Given the description of an element on the screen output the (x, y) to click on. 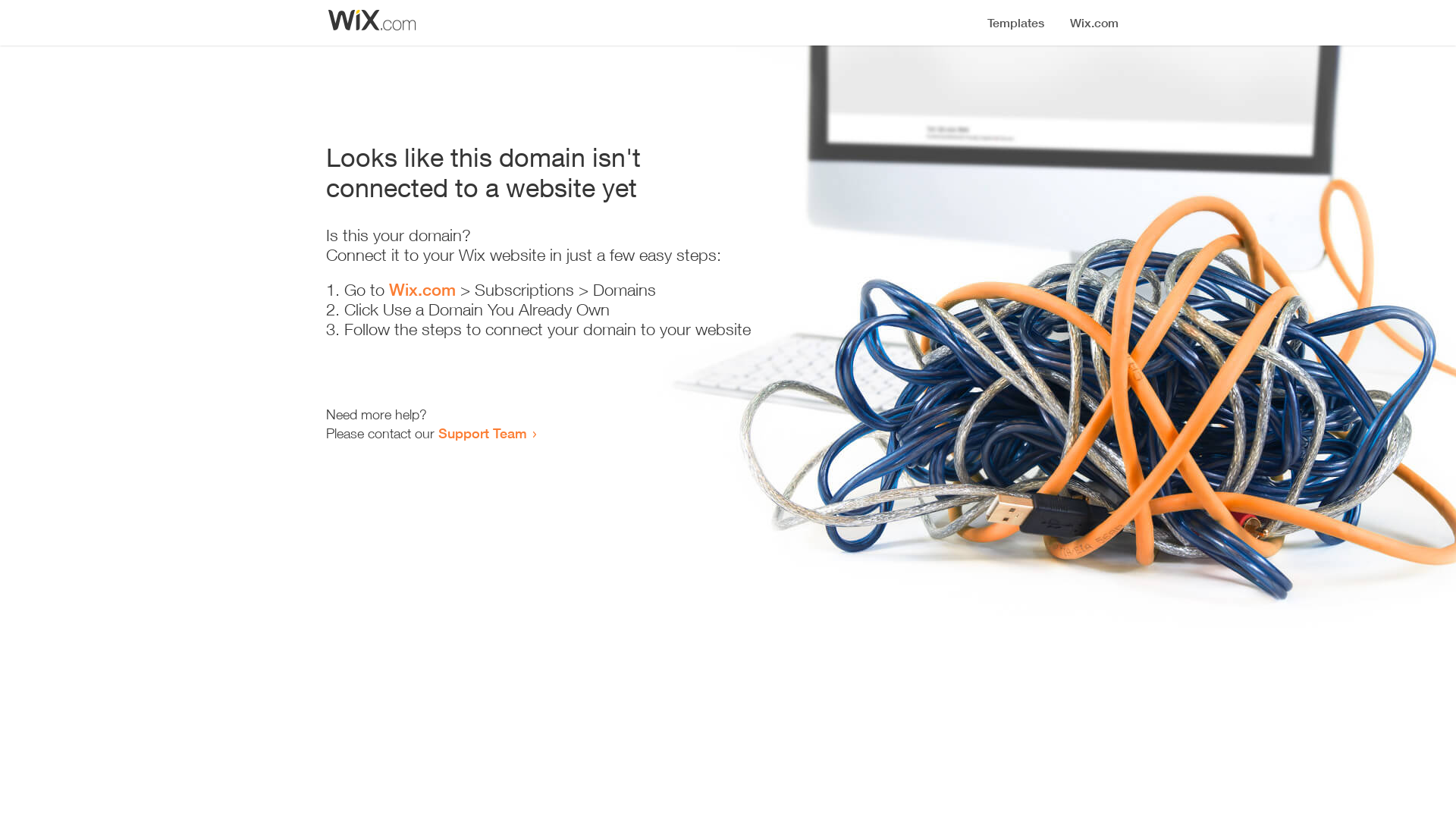
Support Team Element type: text (482, 432)
Wix.com Element type: text (422, 289)
